Given the description of an element on the screen output the (x, y) to click on. 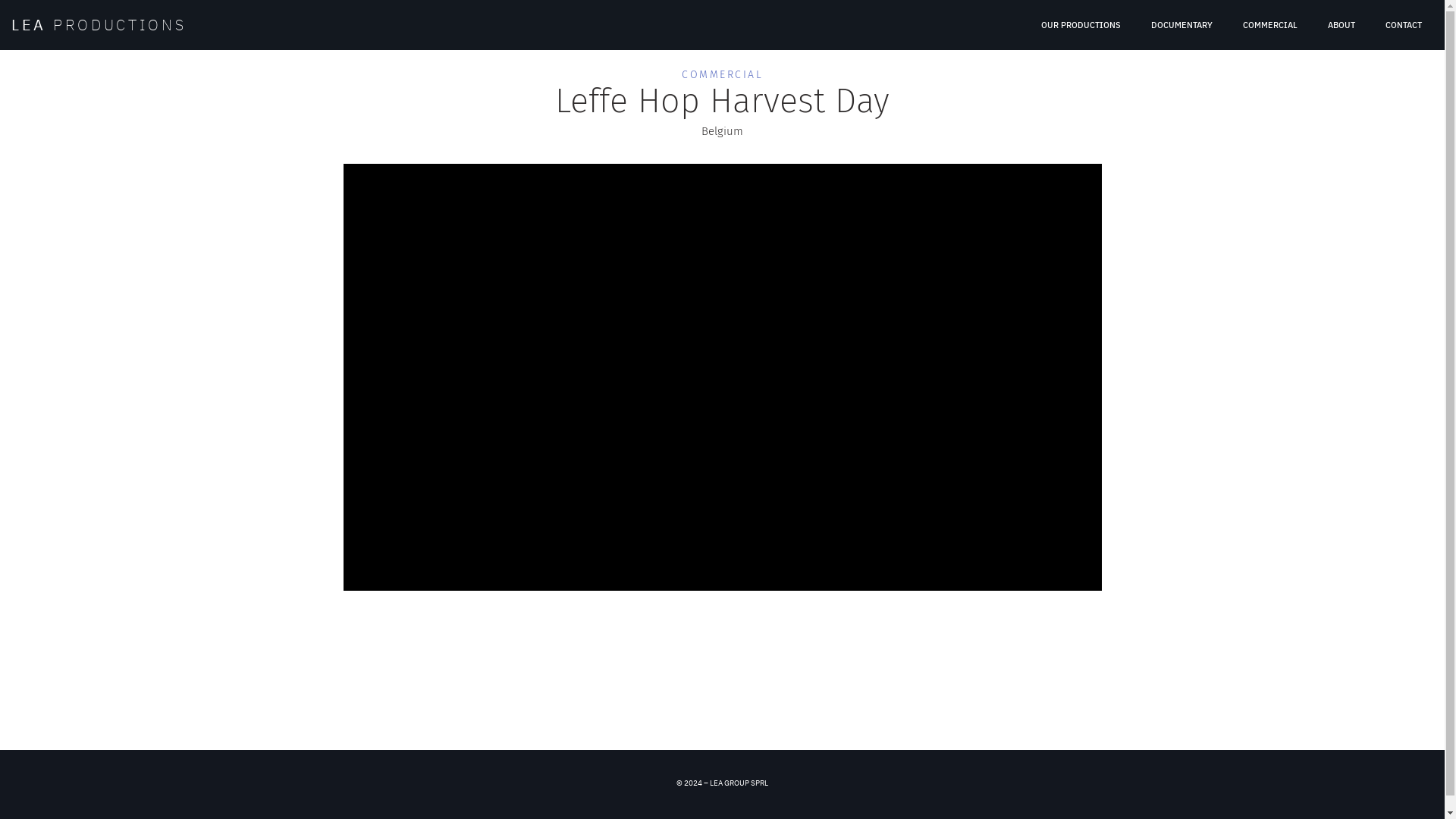
LEA PRODUCTIONS Element type: text (98, 24)
vimeo Video Player Element type: hover (721, 376)
COMMERCIAL Element type: text (1269, 24)
COMMERCIAL Element type: text (721, 74)
CONTACT Element type: text (1403, 24)
OUR PRODUCTIONS Element type: text (1080, 24)
DOCUMENTARY Element type: text (1181, 24)
ABOUT Element type: text (1341, 24)
